Given the description of an element on the screen output the (x, y) to click on. 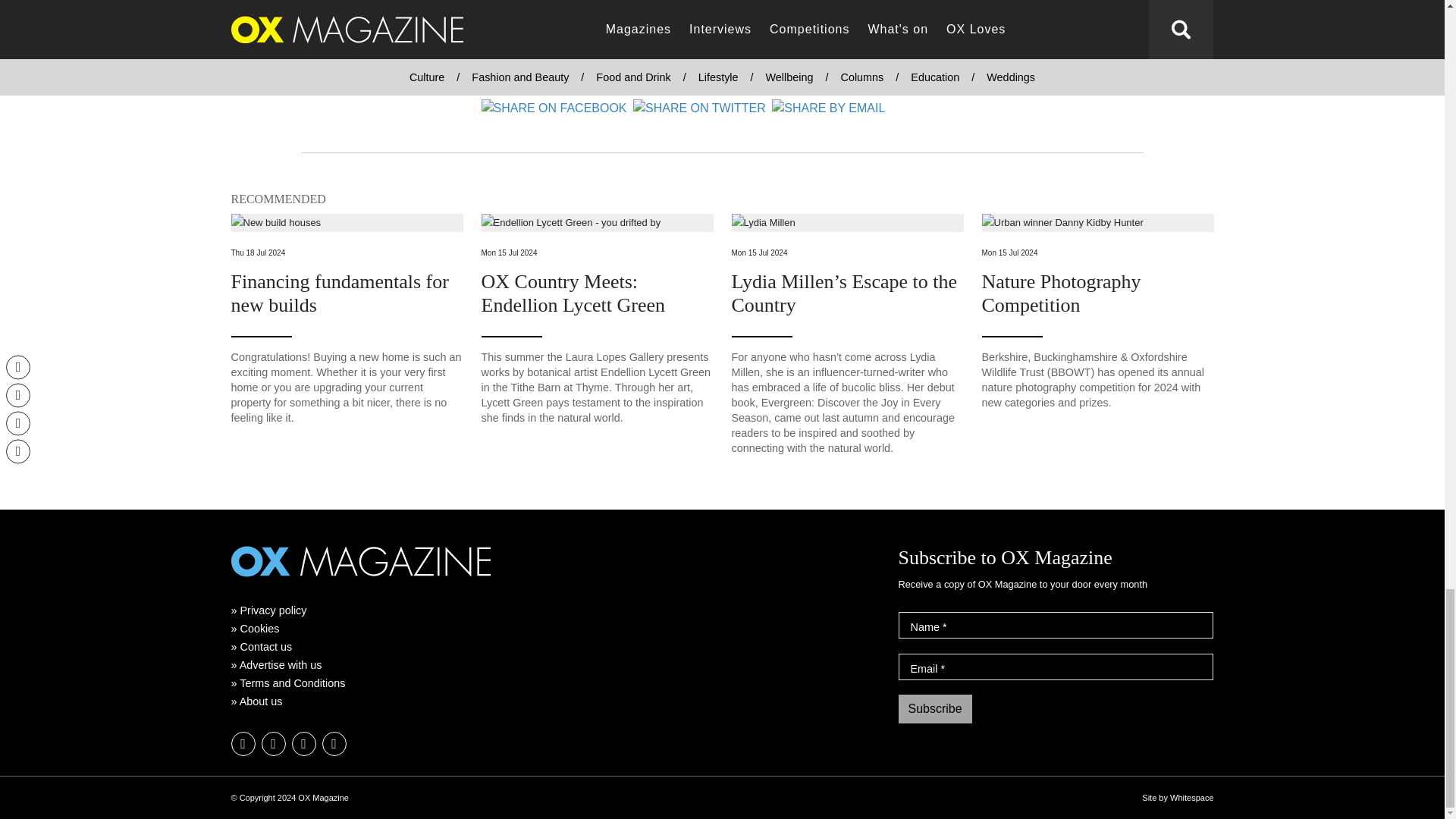
This field is required (942, 668)
DRY in Dry January (318, 41)
This field is required (944, 626)
